Given the description of an element on the screen output the (x, y) to click on. 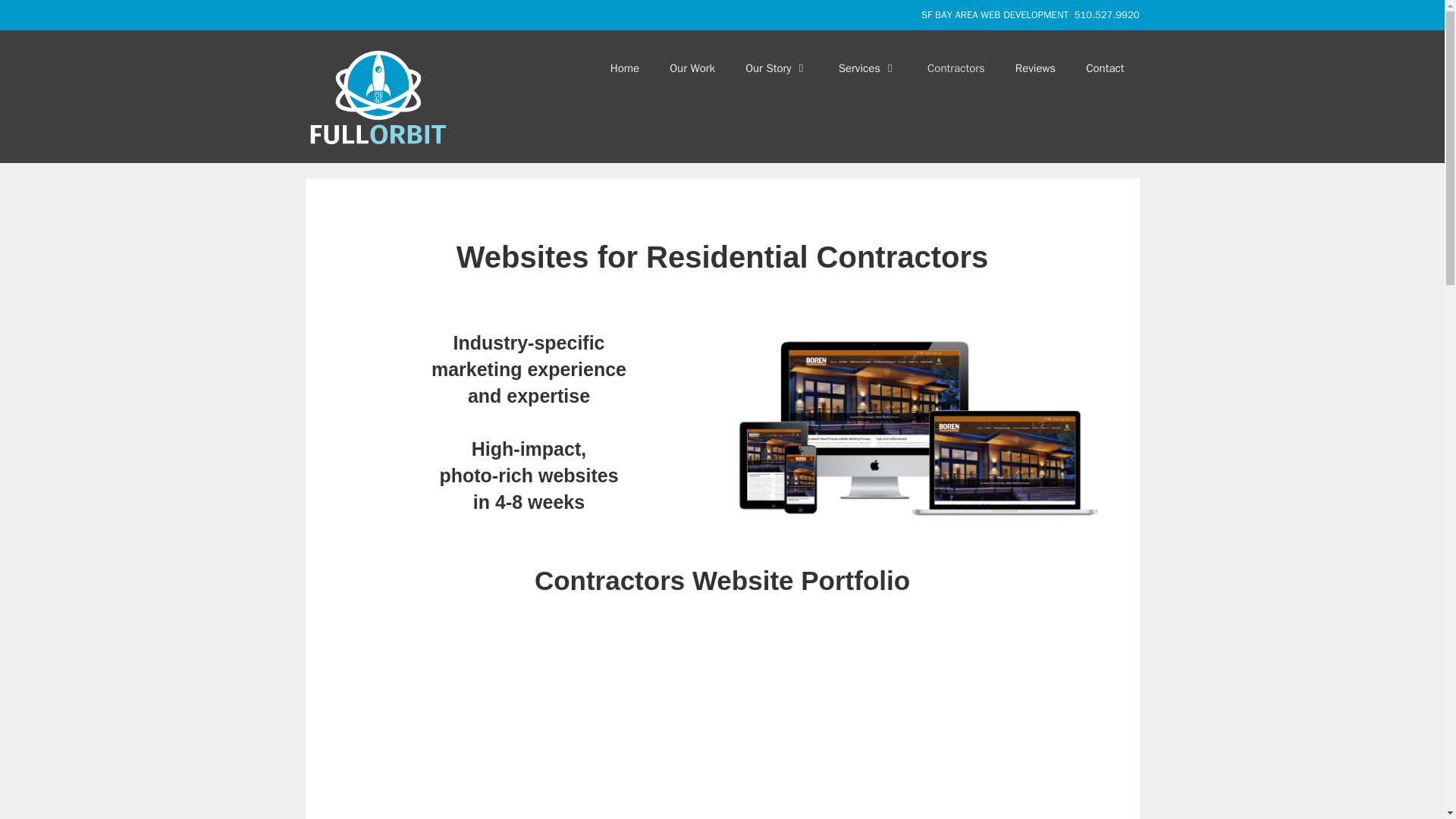
510.527.9920 (1107, 14)
Our Work (691, 67)
Home (624, 67)
Contractors (956, 67)
Services (868, 67)
Our Story (777, 67)
Reviews (1035, 67)
Contact (1104, 67)
